Given the description of an element on the screen output the (x, y) to click on. 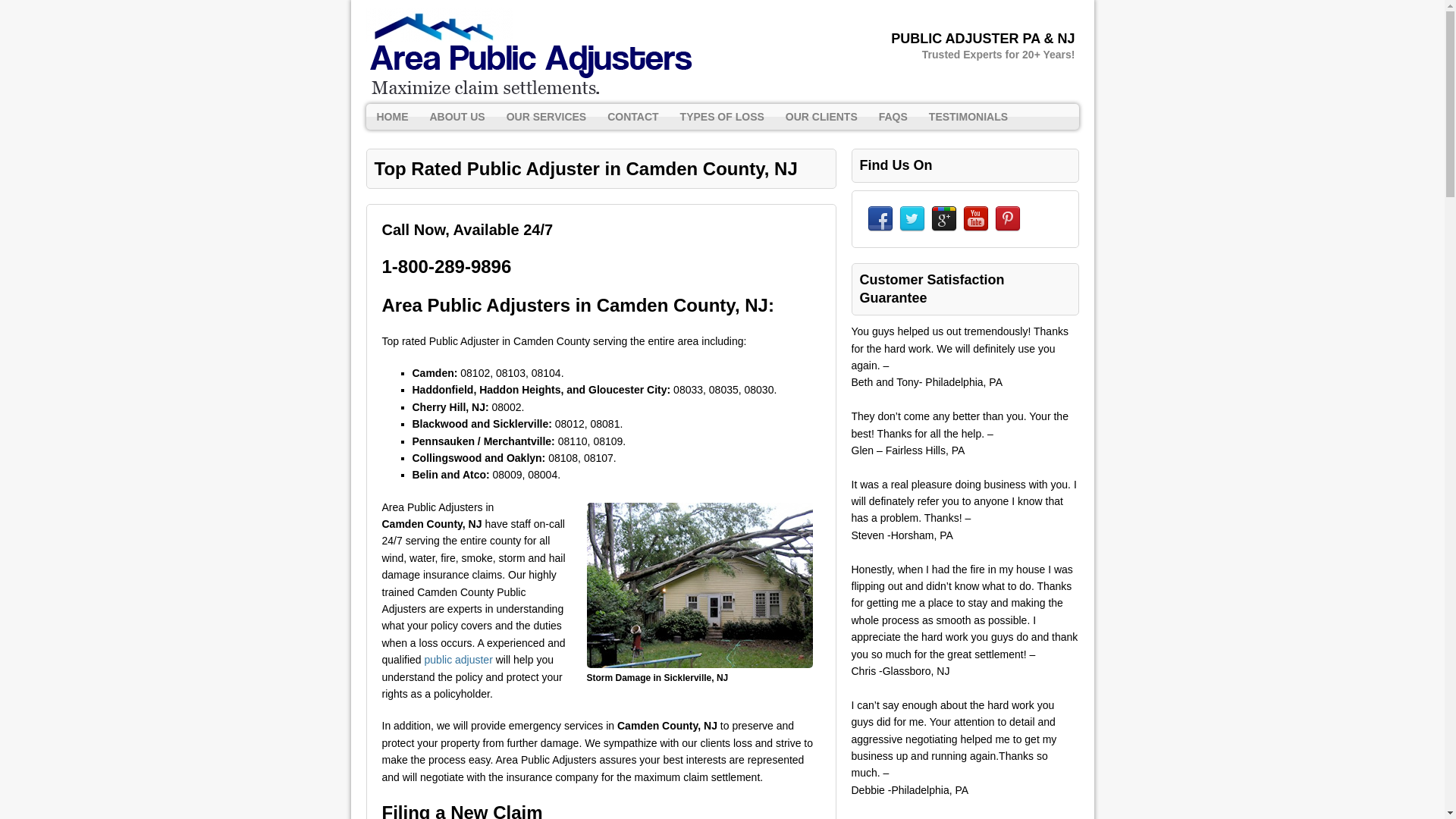
CONTACT (632, 116)
OUR CLIENTS (820, 116)
public adjuster (459, 659)
OUR SERVICES (546, 116)
HOME (392, 116)
FAQS (892, 116)
TYPES OF LOSS (721, 116)
ABOUT US (457, 116)
TESTIMONIALS (967, 116)
